Given the description of an element on the screen output the (x, y) to click on. 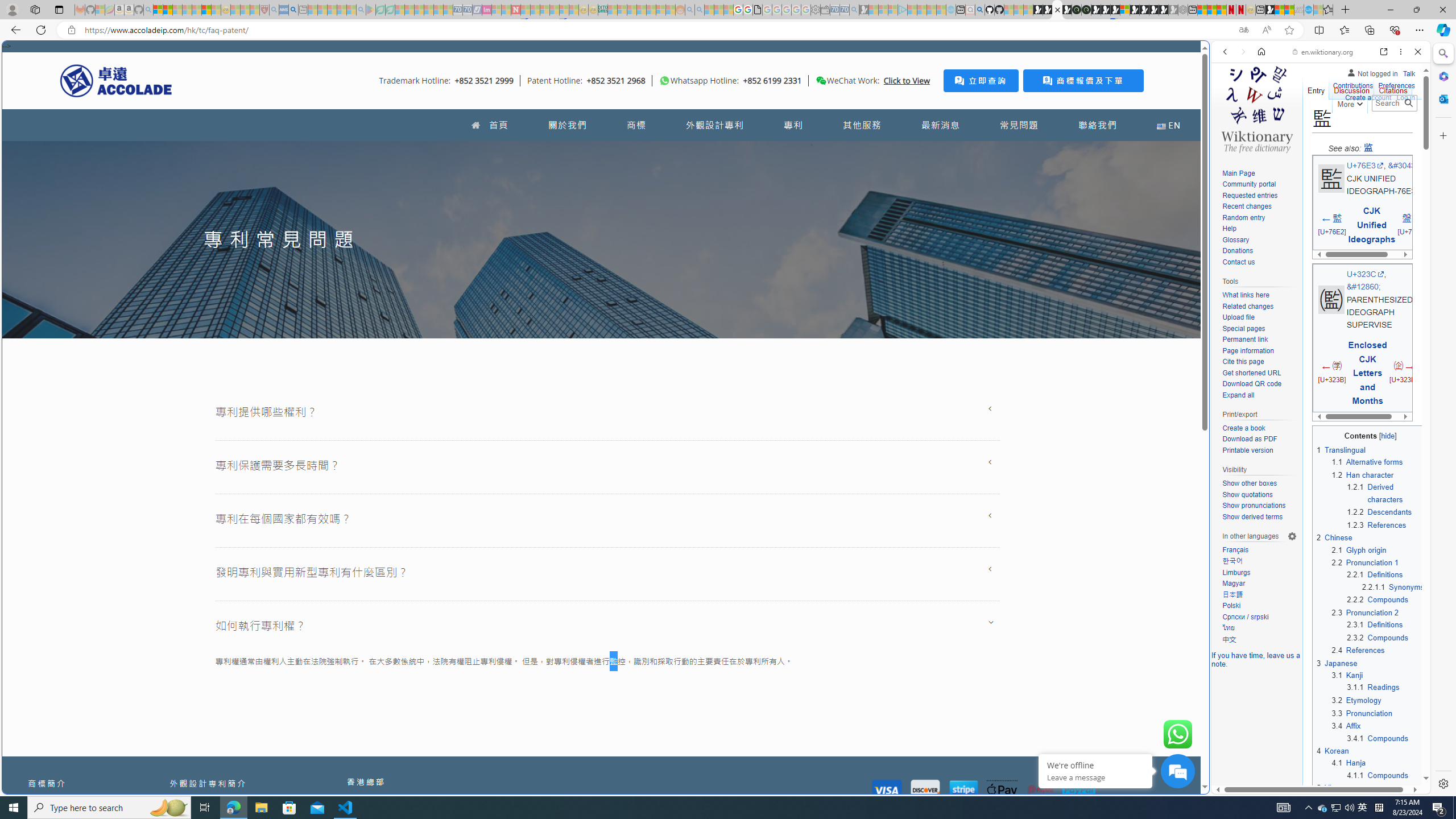
hide (1319, 433)
Polski (1230, 605)
Related changes (1247, 306)
Recent changes (1259, 206)
3.4 Affix (1345, 725)
Citations (1393, 87)
en.wiktionary.org (1323, 51)
5Vietnamese5.1Han character (1370, 794)
3 Japanese (1336, 662)
1.1Alternative forms (1377, 462)
